Given the description of an element on the screen output the (x, y) to click on. 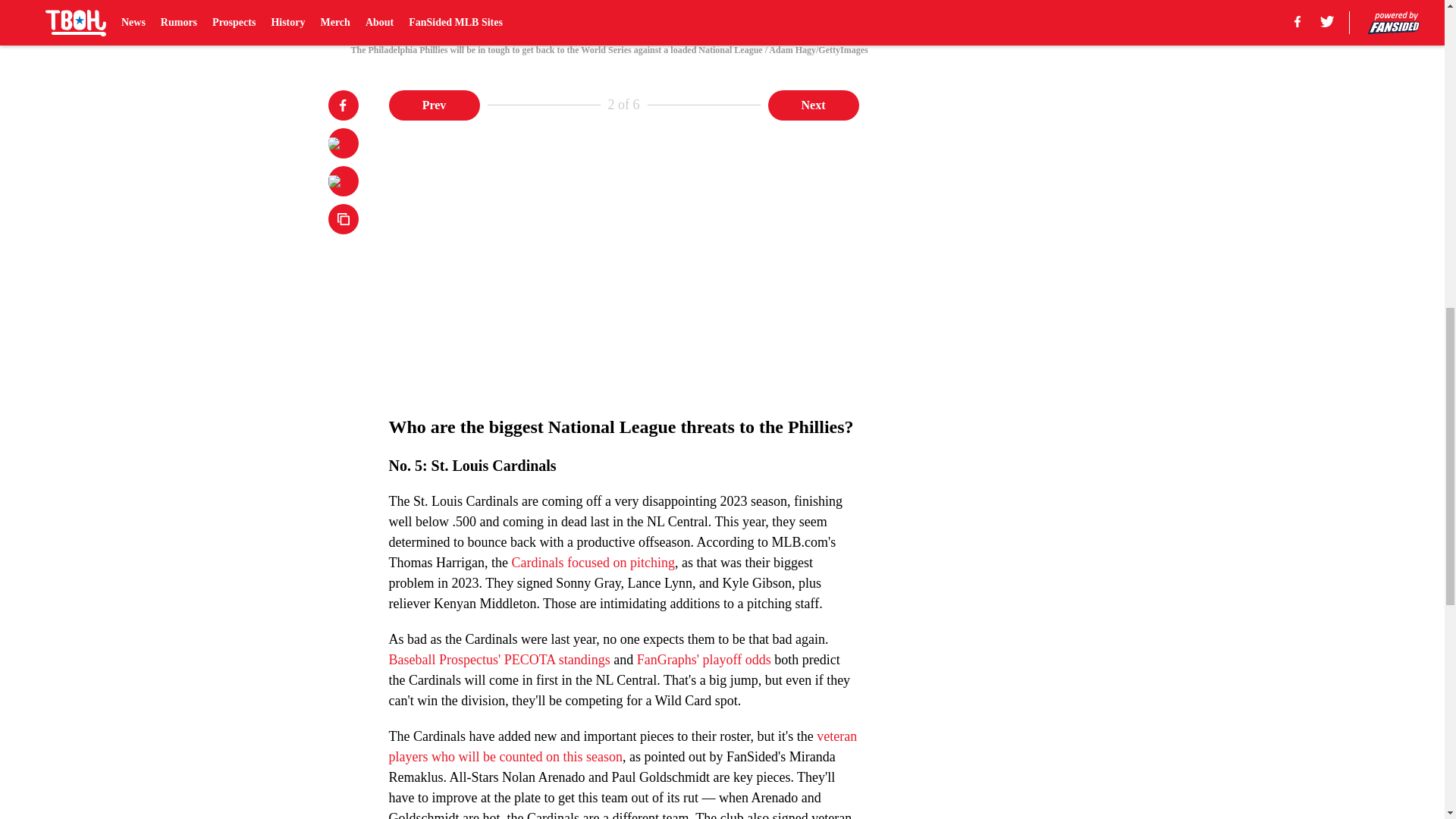
FanGraphs' playoff odds (704, 659)
Prev (433, 104)
Cardinals focused on pitching (592, 562)
veteran players who will be counted on this season (622, 746)
Baseball Prospectus' PECOTA standings (499, 659)
Next (813, 104)
